Given the description of an element on the screen output the (x, y) to click on. 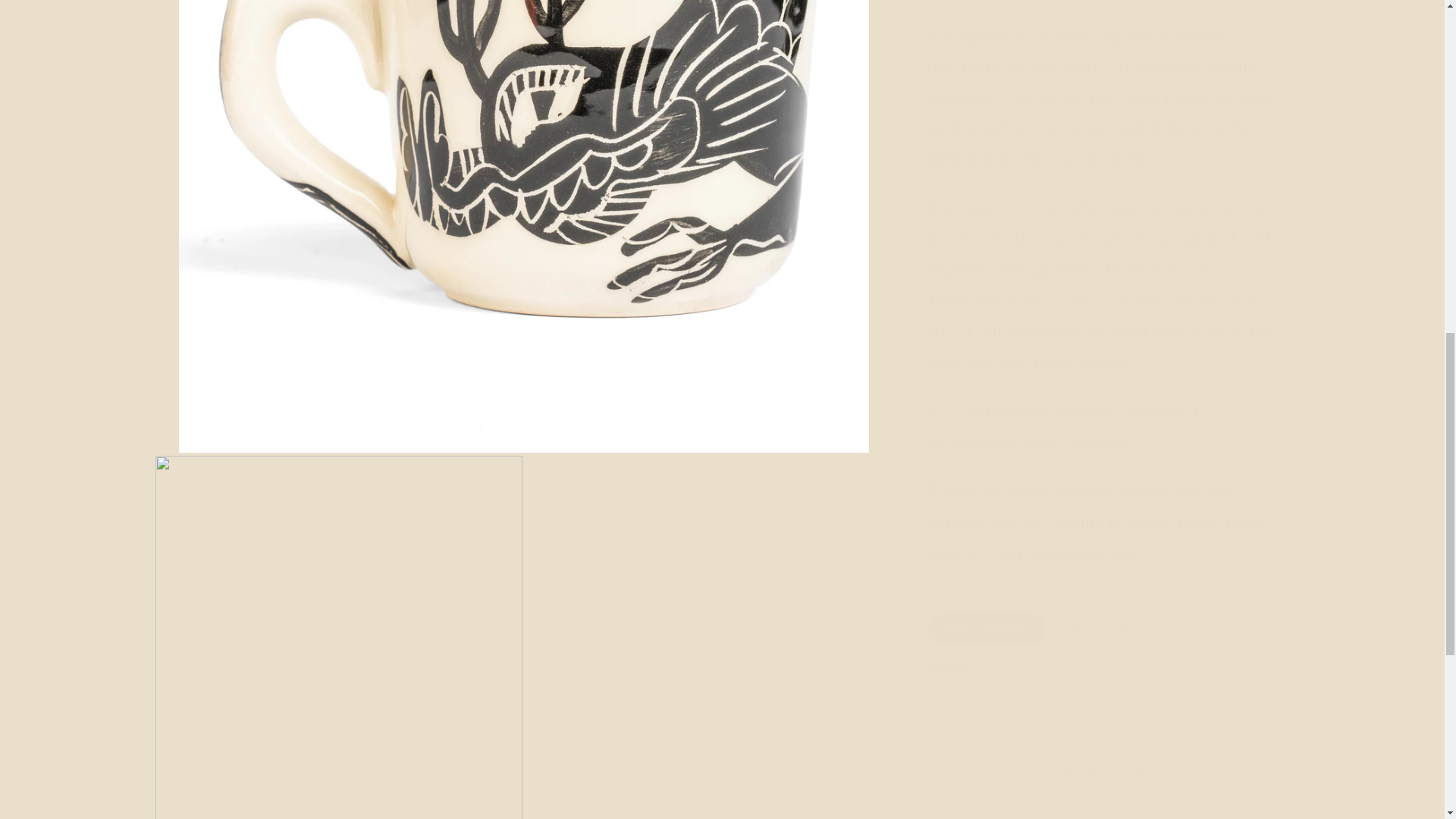
Open media 1 in modal (523, 40)
1 (981, 685)
